Given the description of an element on the screen output the (x, y) to click on. 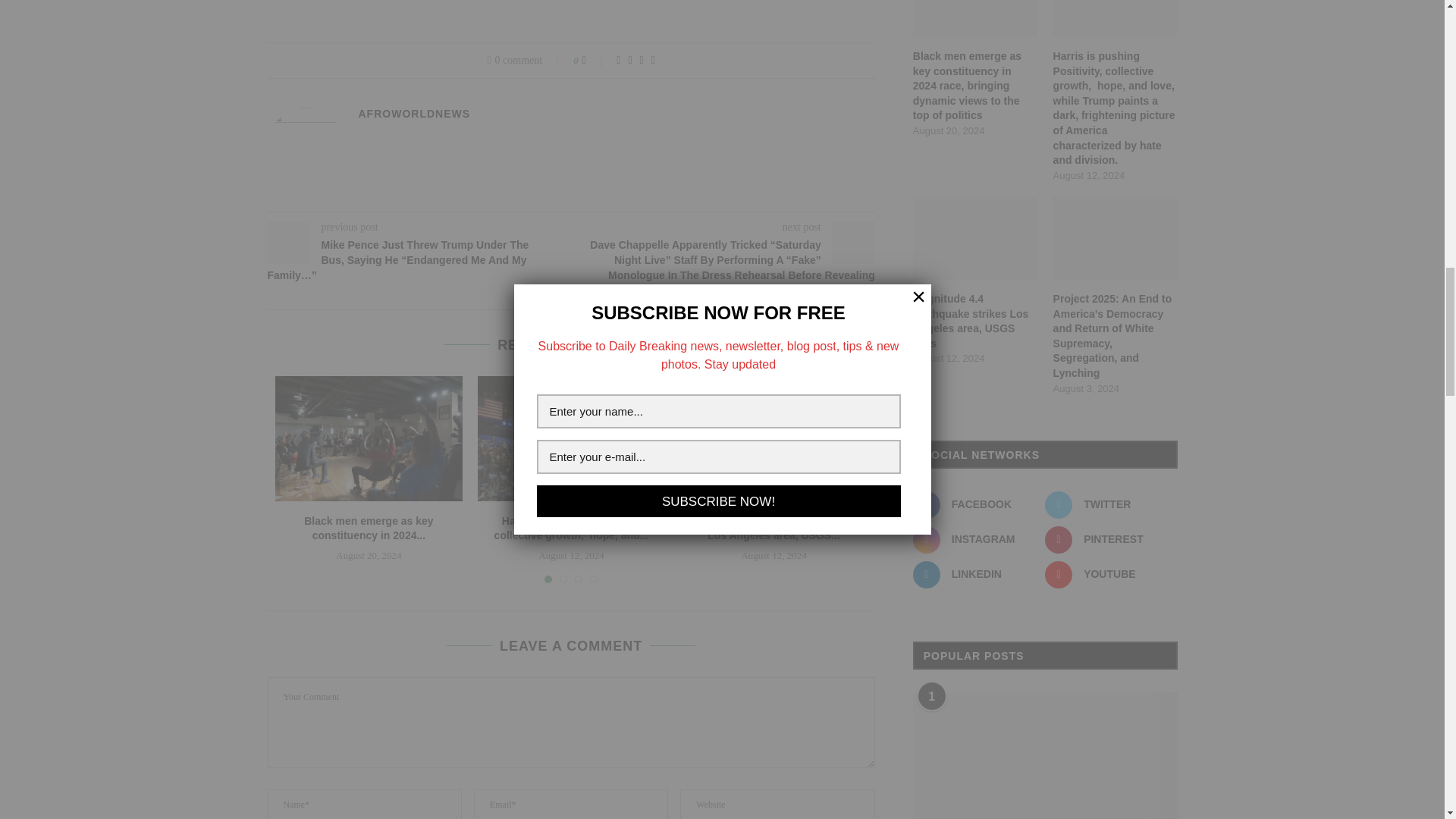
Posts by AfroWorldNews (414, 113)
Like (594, 60)
Magnitude 4.4 earthquake strikes Los Angeles area, USGS says (773, 438)
